Given the description of an element on the screen output the (x, y) to click on. 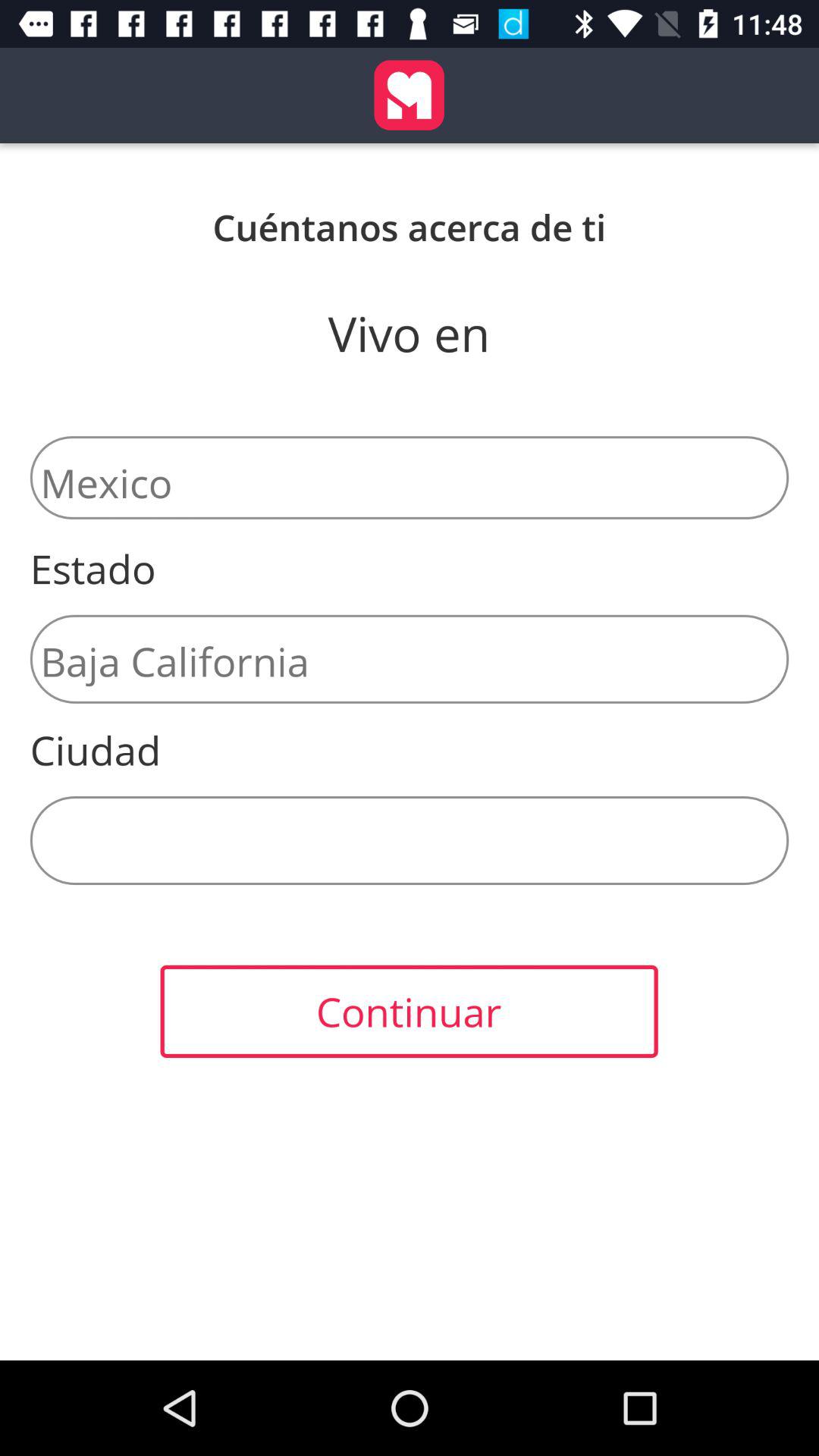
flip until the continuar item (409, 1011)
